Given the description of an element on the screen output the (x, y) to click on. 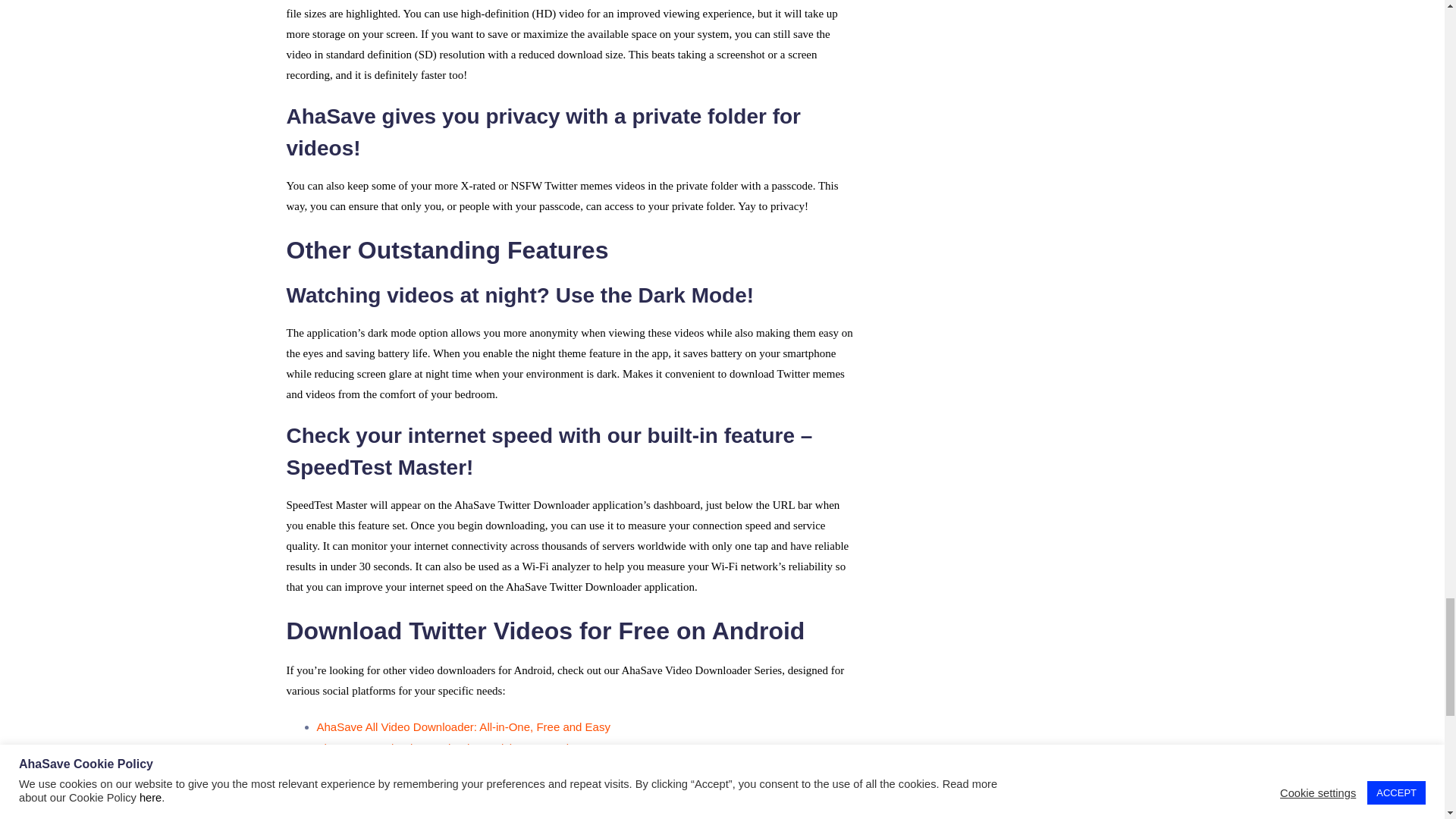
Google Play (551, 818)
Twitter (497, 818)
AhaSave Facebook Downloader: Quick, Easy and Free (456, 748)
Reddit (757, 818)
YouTube (611, 818)
AhaSave Twitter Downloader: Easy Video Downloads (451, 789)
Tiktok (403, 818)
AhaSave Instagram Downloader: Easy Multiple Downloads (465, 768)
AhaSave All Video Downloader: All-in-One, Free and Easy (463, 726)
Pinterest (449, 818)
Website (659, 818)
LinkedIn (710, 818)
